Given the description of an element on the screen output the (x, y) to click on. 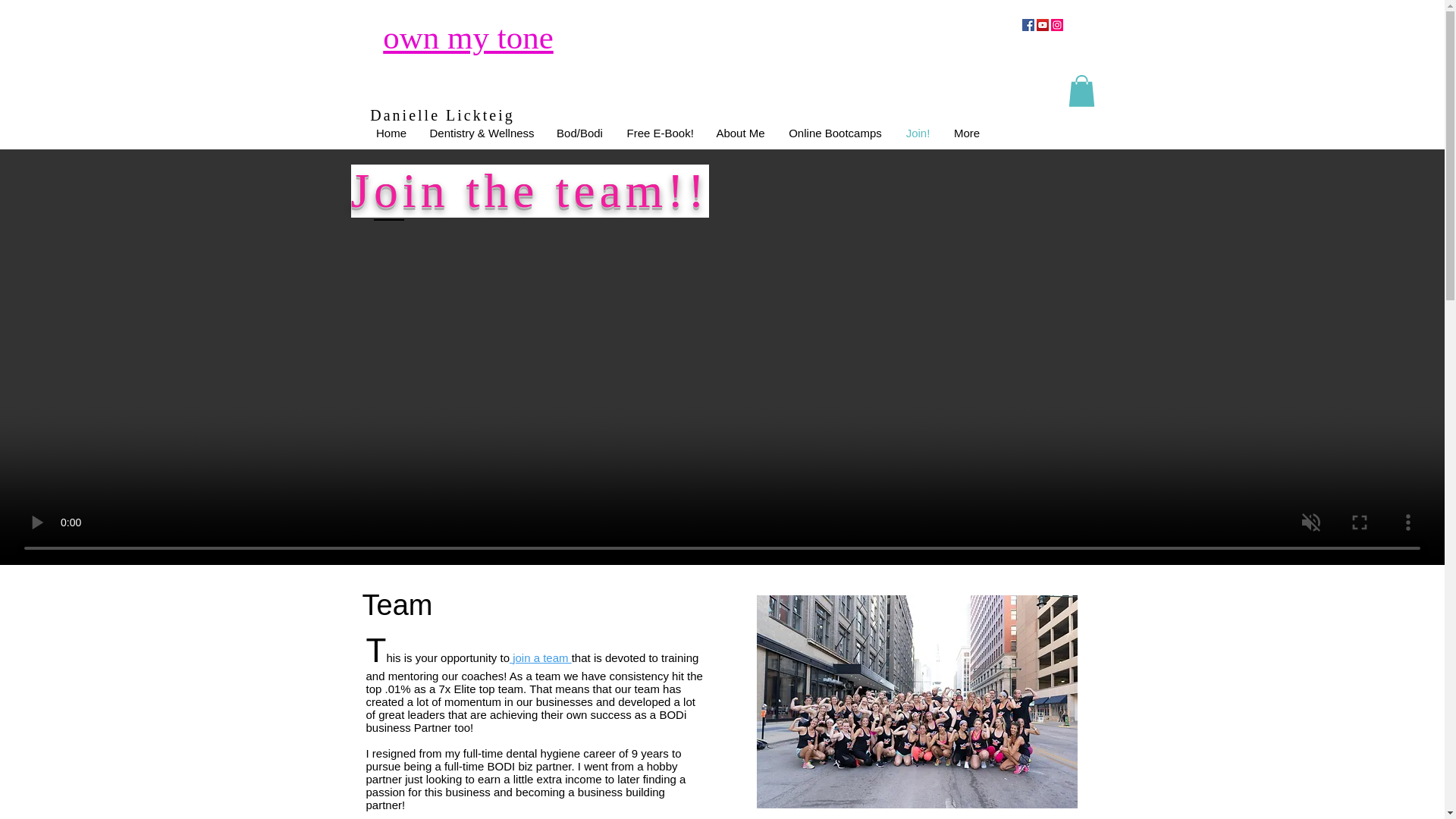
Danielle Lickteig  (444, 115)
Free E-Book! (659, 132)
Home (390, 132)
About Me (739, 132)
Join! (917, 132)
Online Bootcamps (834, 132)
join a team  (540, 657)
own my tone (467, 36)
